Given the description of an element on the screen output the (x, y) to click on. 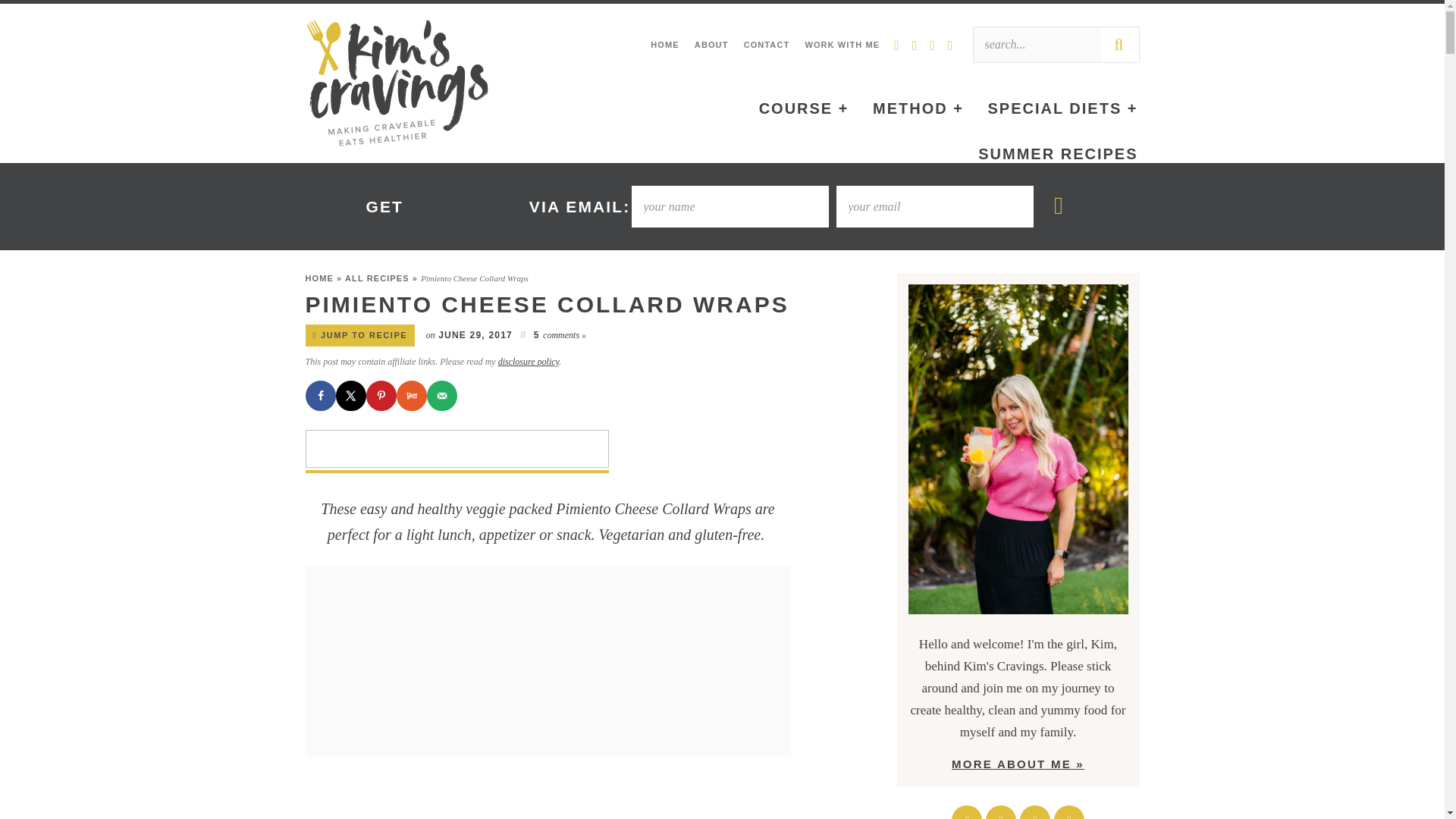
Share on X (349, 395)
ABOUT (710, 44)
Save to Pinterest (380, 395)
Share on Facebook (319, 395)
Share on Yummly (411, 395)
CONTACT (766, 44)
Kim's Cravings (395, 83)
Send over email (441, 395)
HOME (664, 44)
